Given the description of an element on the screen output the (x, y) to click on. 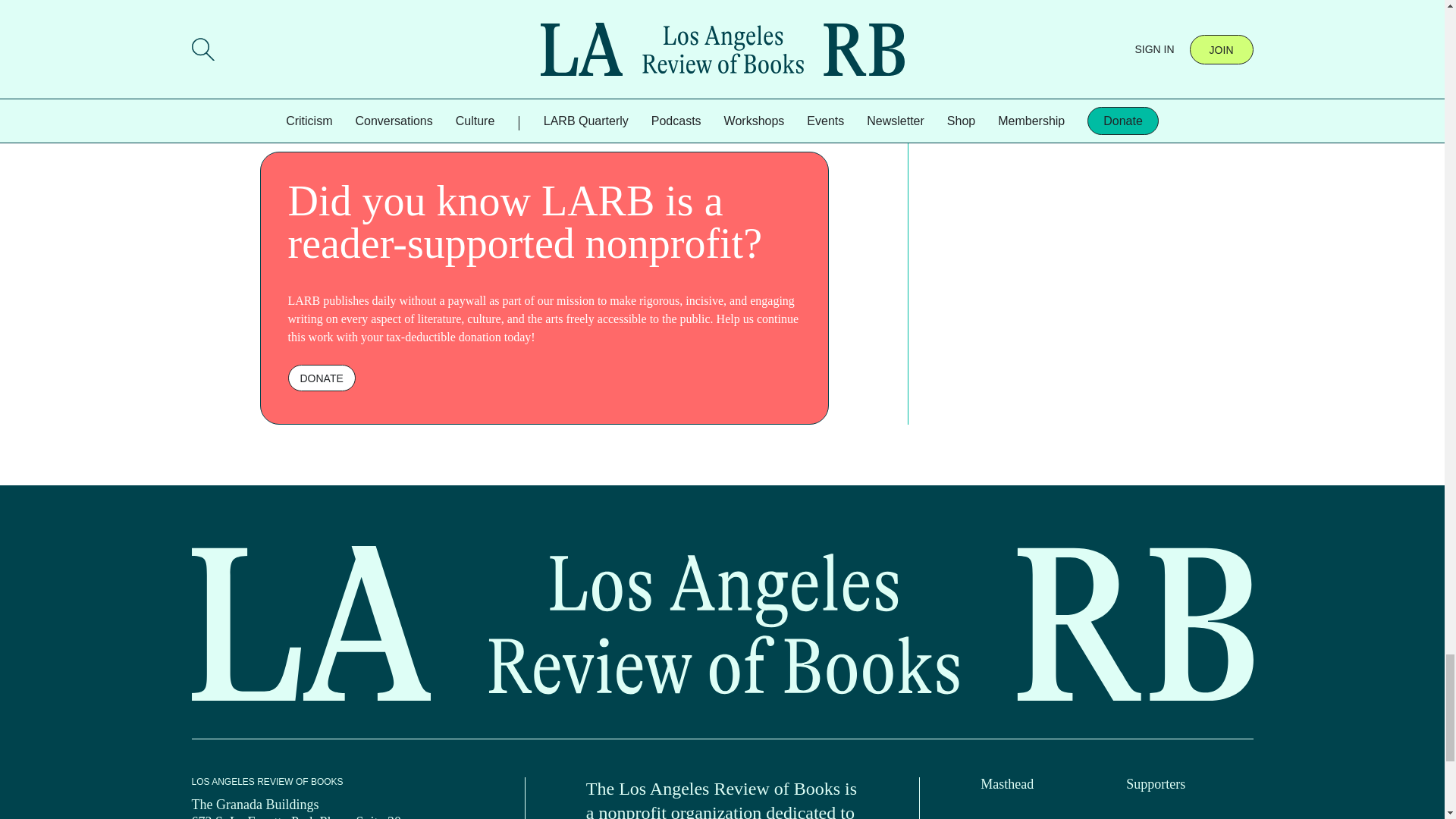
DONATE (321, 377)
BRAD EVANS (288, 75)
Histories of Violence: The Tragedy of Existence (405, 8)
